Given the description of an element on the screen output the (x, y) to click on. 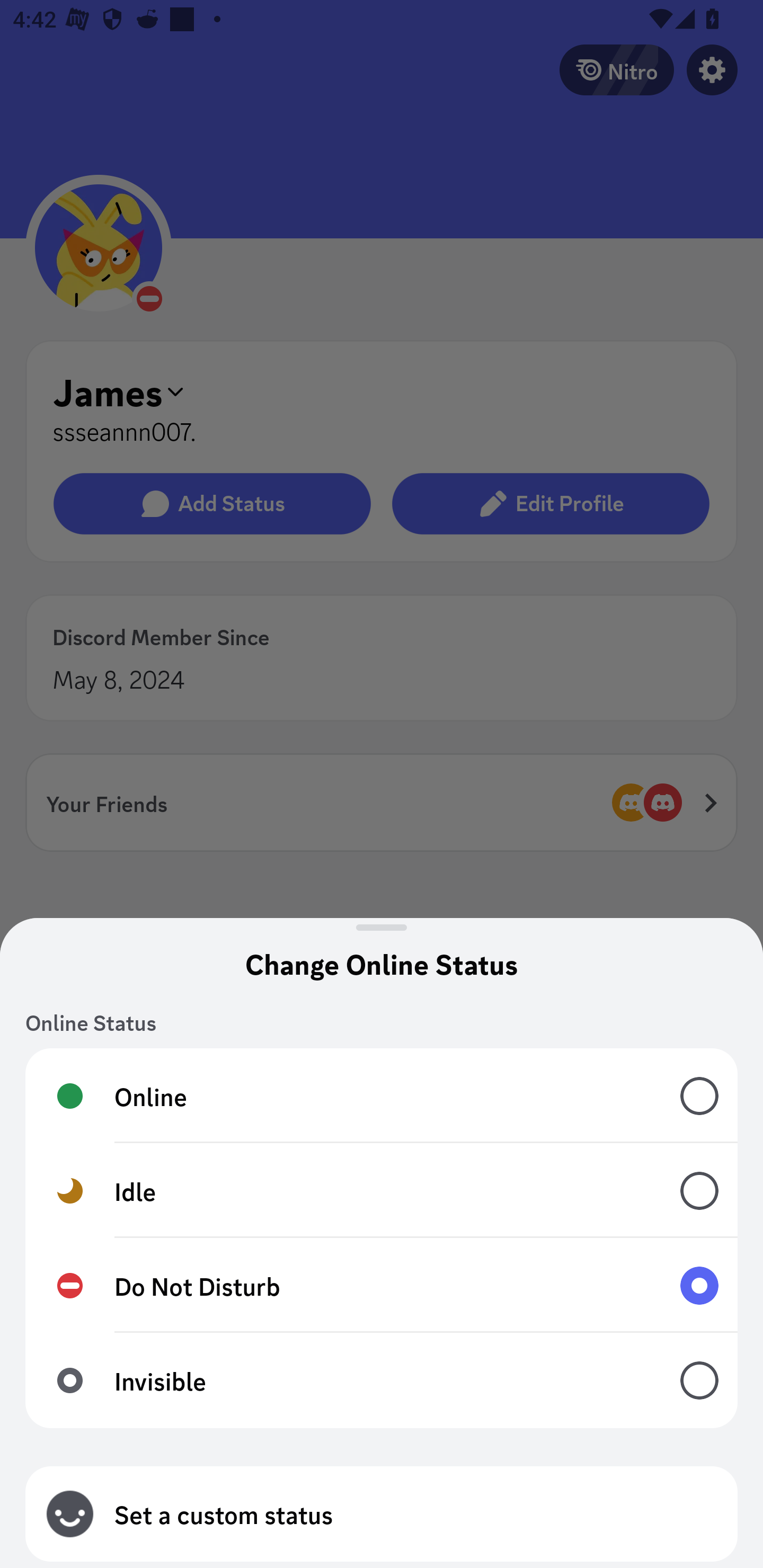
Online,  Online (381, 1095)
Idle,  Idle (381, 1190)
Do Not Disturb,  Do Not Disturb (381, 1285)
Invisible,  Invisible (381, 1380)
Set a custom status (381, 1513)
